Given the description of an element on the screen output the (x, y) to click on. 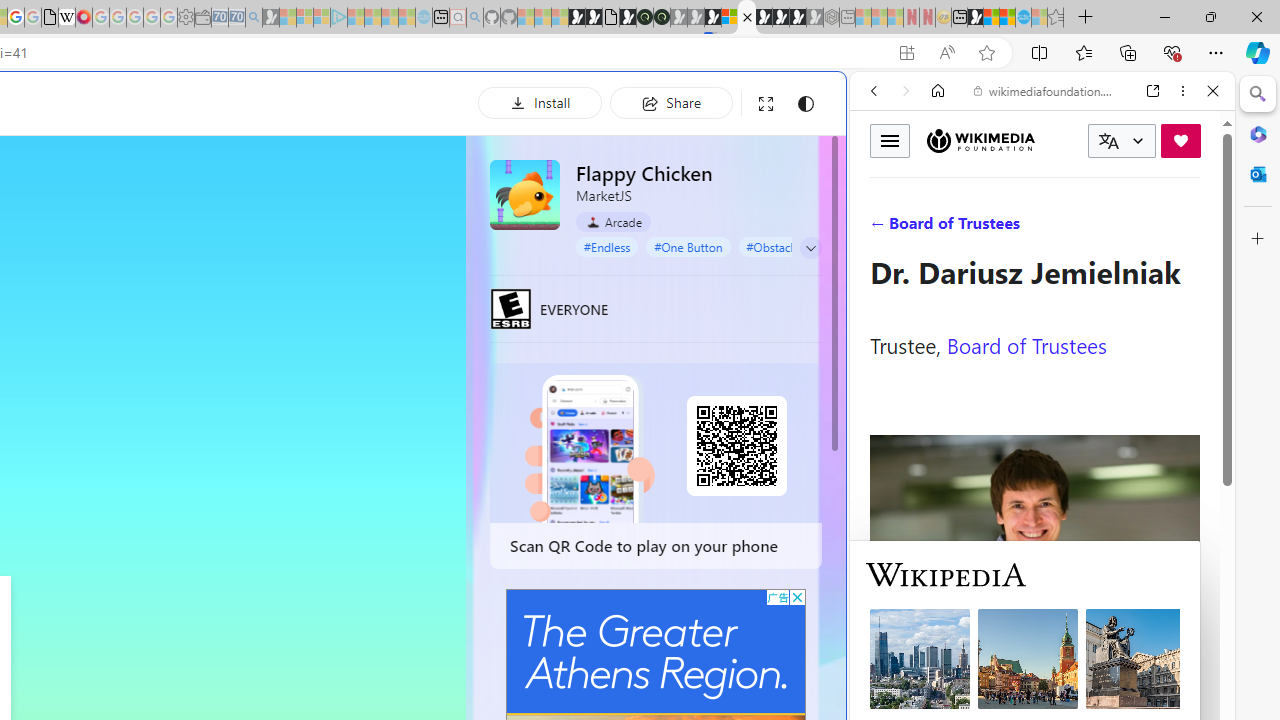
Target page - Wikipedia (66, 17)
Tabs you've opened (276, 265)
Search Filter, VIDEOS (1006, 228)
Class: b_serphb (1190, 229)
CURRENT LANGUAGE: (1121, 141)
